Given the description of an element on the screen output the (x, y) to click on. 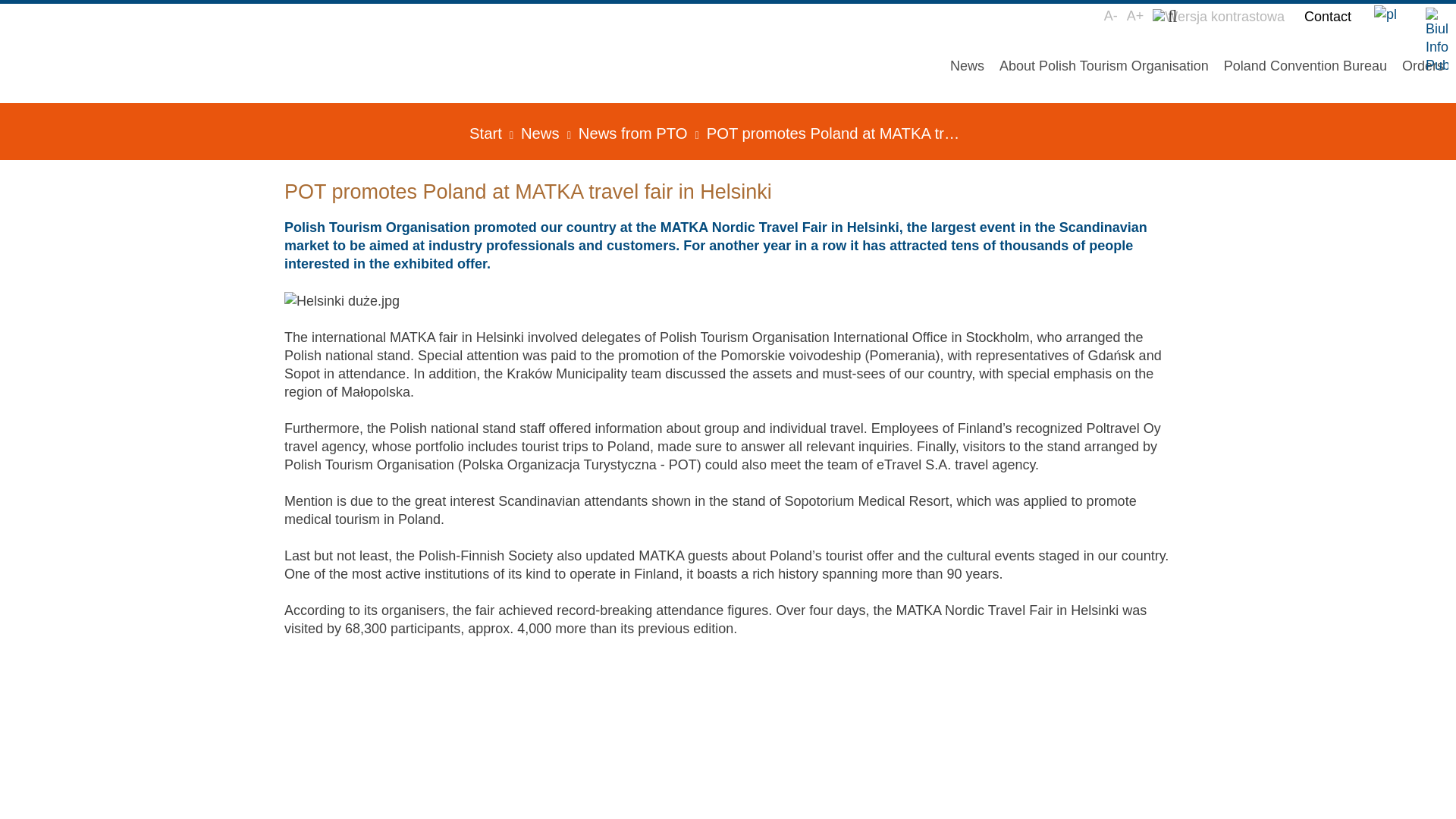
Contact (1327, 16)
Contact form (1327, 16)
A- (1110, 16)
Poland Convention Bureau (1304, 64)
About Polish Tourism Organisation (1103, 64)
